Given the description of an element on the screen output the (x, y) to click on. 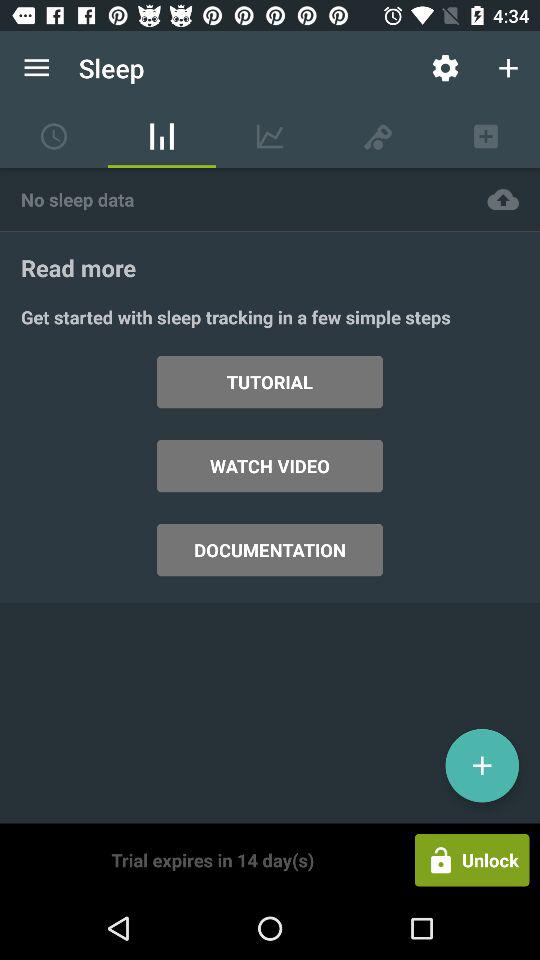
open no sleep data item (233, 198)
